Given the description of an element on the screen output the (x, y) to click on. 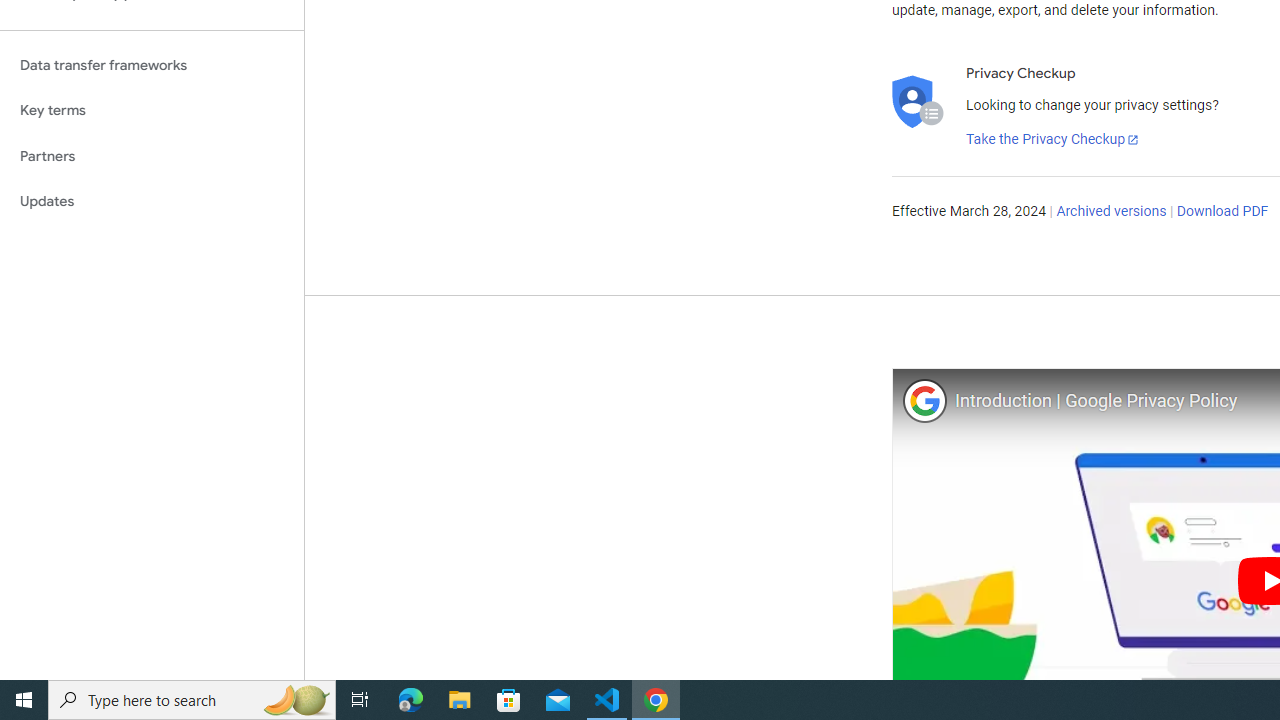
Photo image of Google (924, 400)
Take the Privacy Checkup (1053, 140)
